Given the description of an element on the screen output the (x, y) to click on. 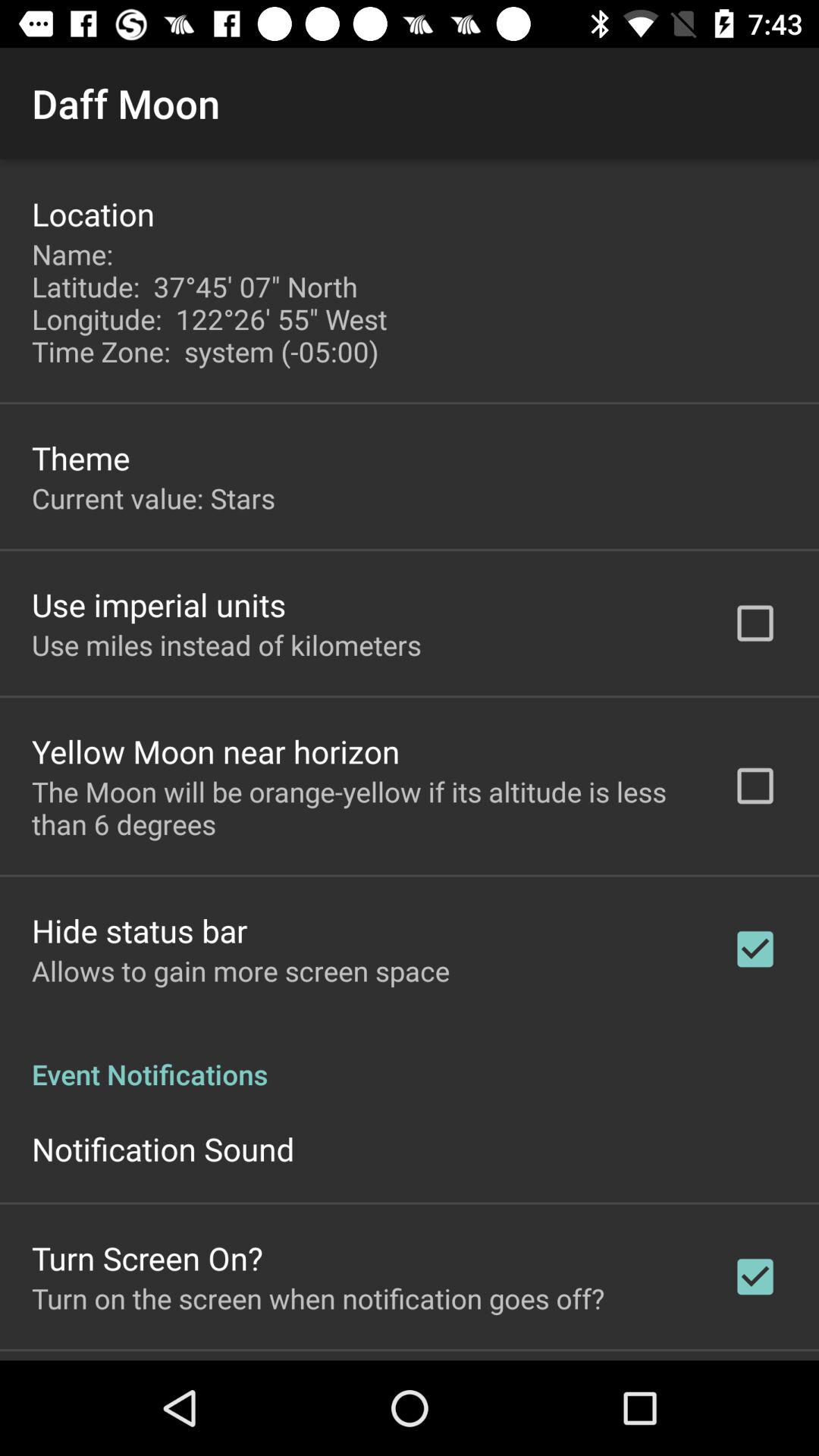
turn off theme app (80, 457)
